Given the description of an element on the screen output the (x, y) to click on. 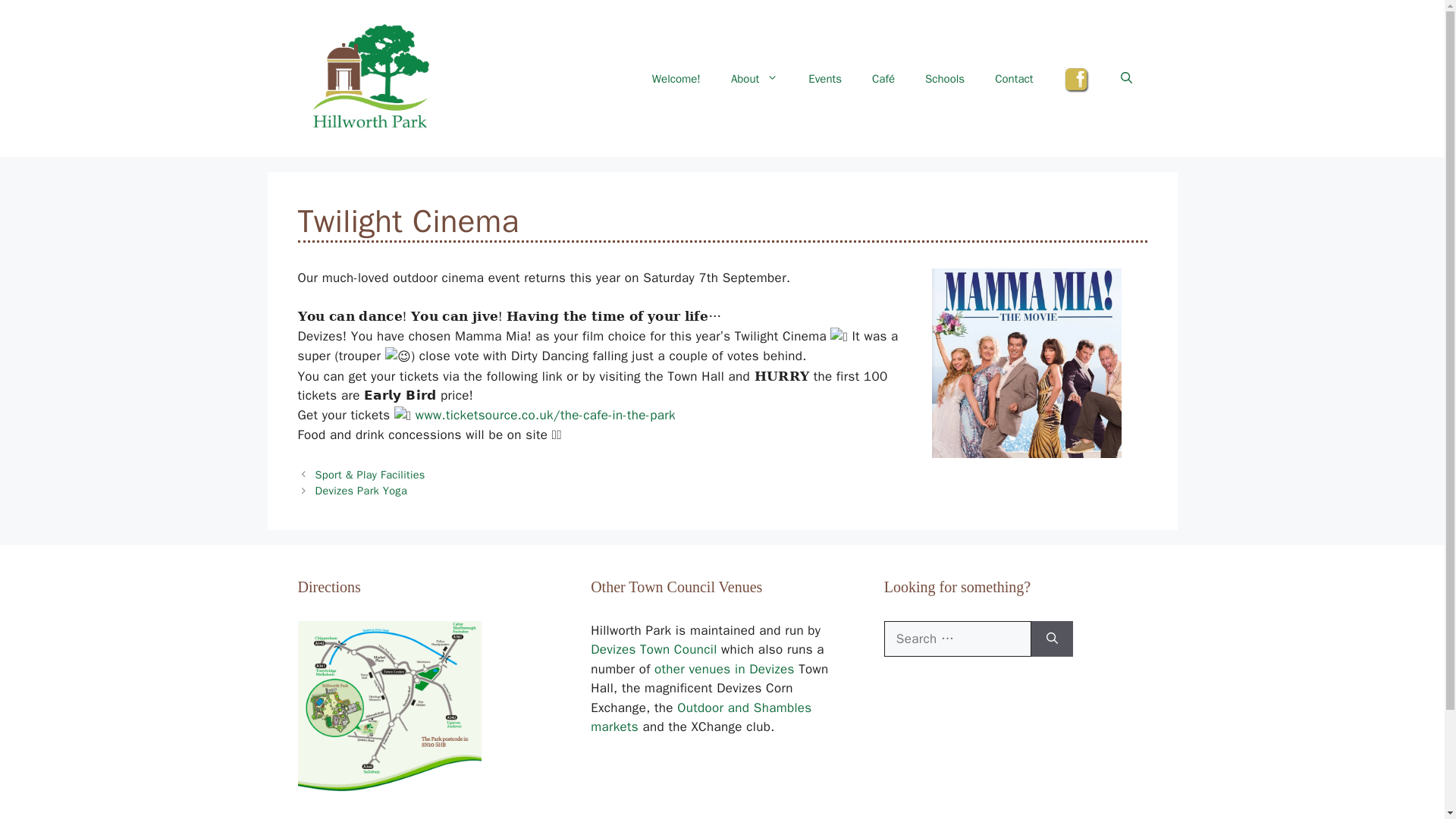
Devizes Park Yoga (361, 490)
Welcome! (676, 78)
Schools (944, 78)
About (754, 78)
Contact (1013, 78)
Search for: (956, 638)
Events (825, 78)
